Given the description of an element on the screen output the (x, y) to click on. 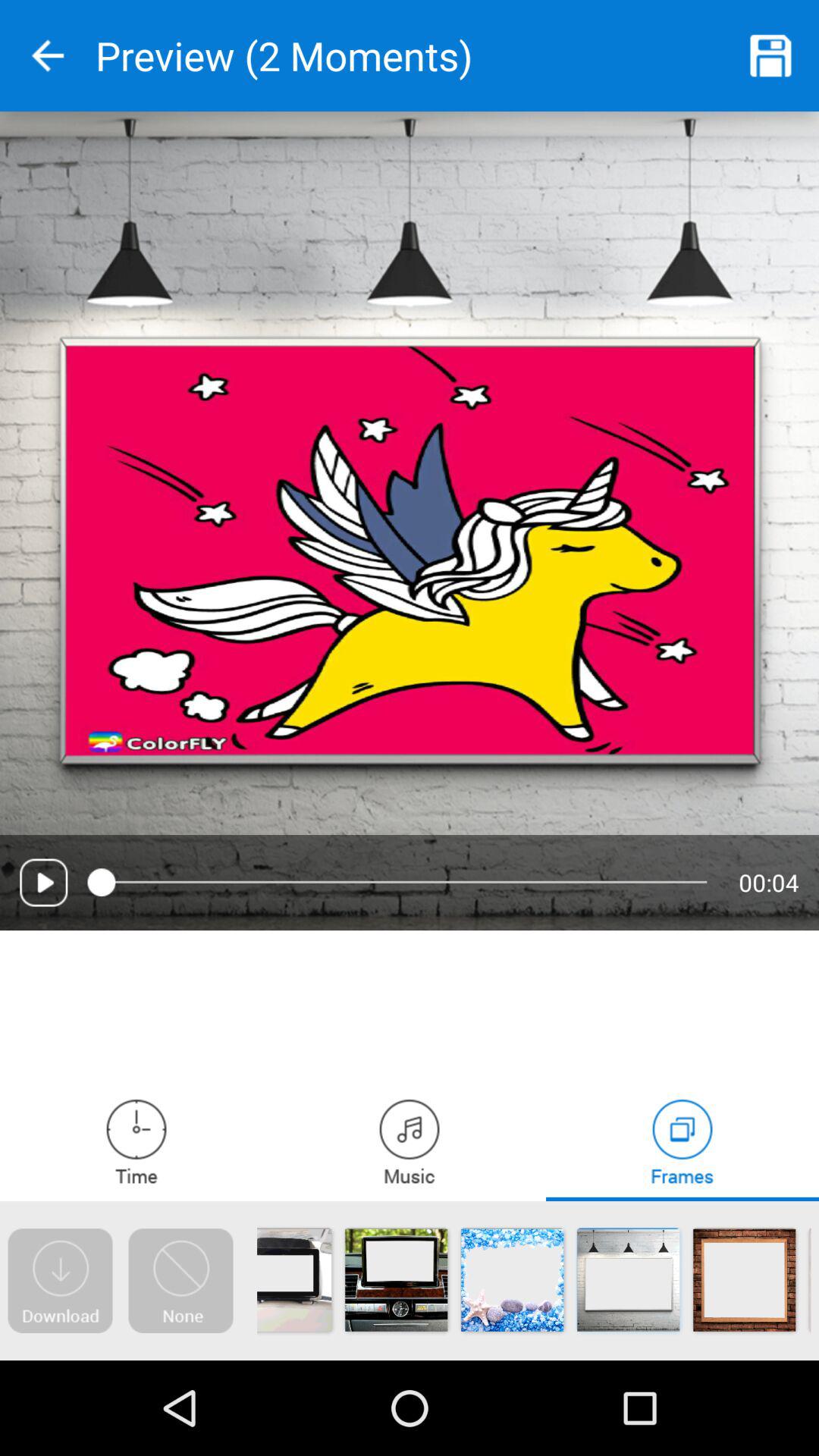
download (59, 1280)
